Given the description of an element on the screen output the (x, y) to click on. 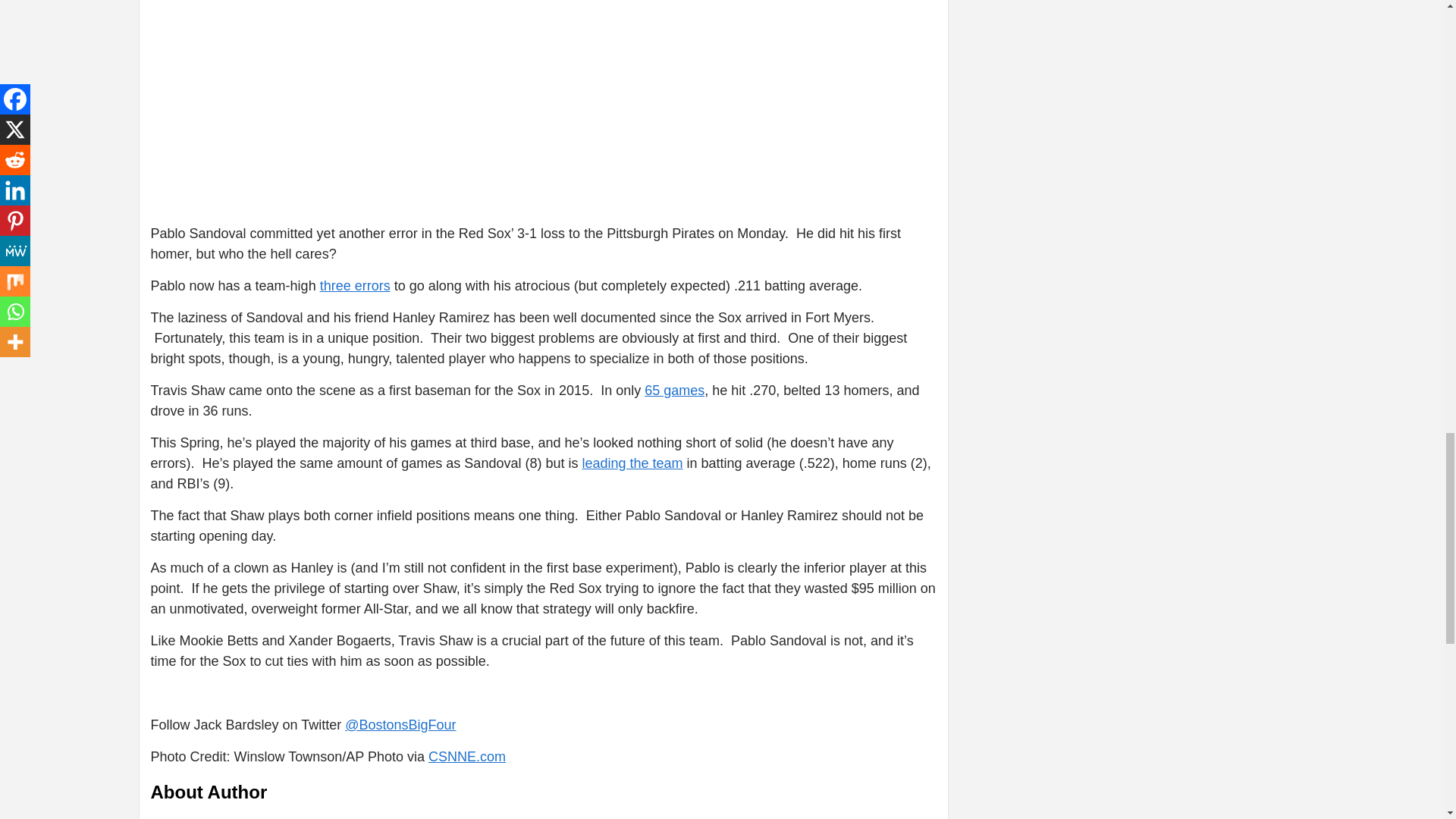
CSNNE.com (466, 756)
65 games (674, 390)
three errors (355, 285)
leading the team (631, 462)
